Given the description of an element on the screen output the (x, y) to click on. 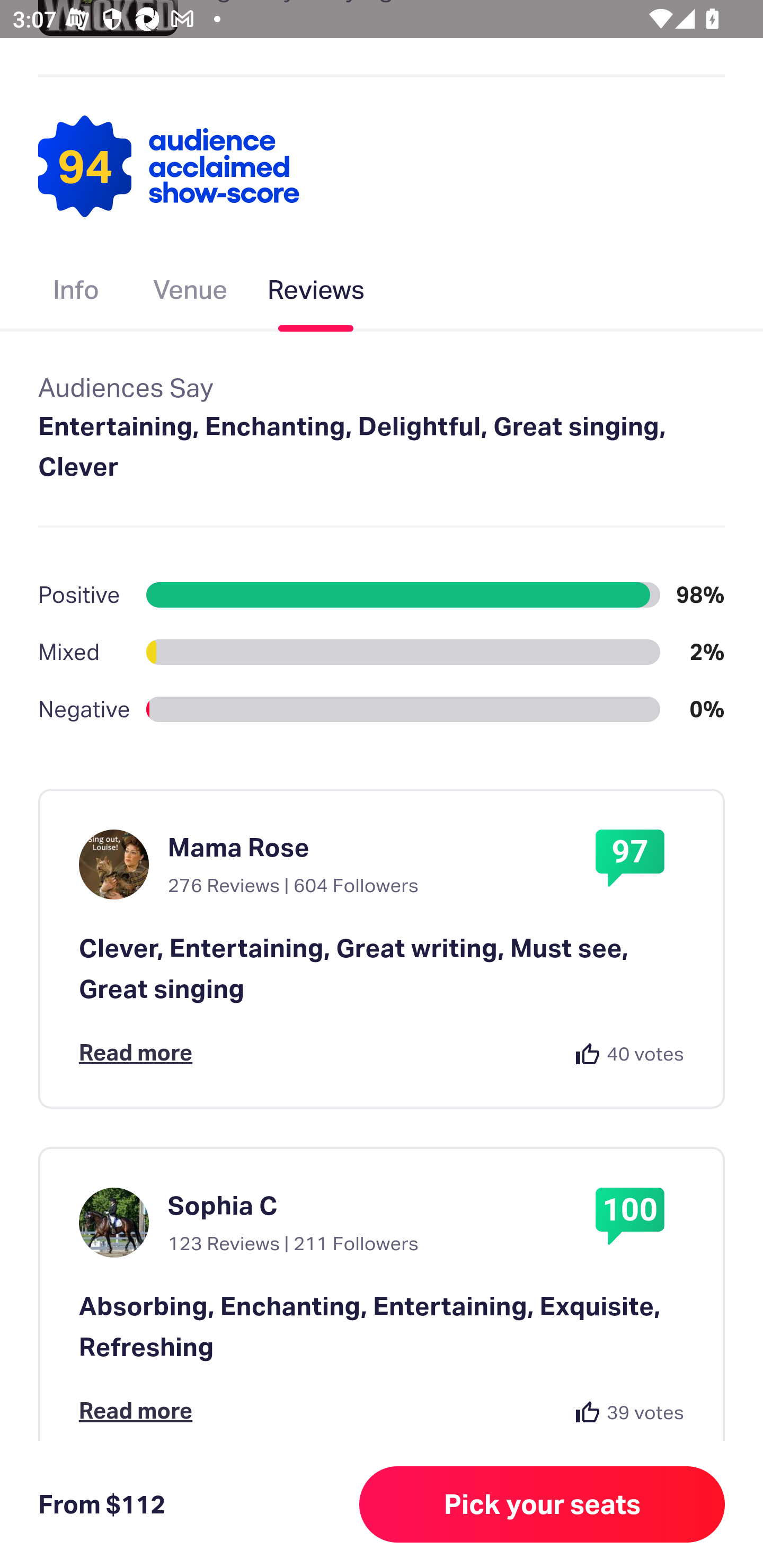
Info (76, 292)
Venue (190, 292)
Read more (135, 1051)
Read more (135, 1410)
Pick your seats (541, 1504)
